Given the description of an element on the screen output the (x, y) to click on. 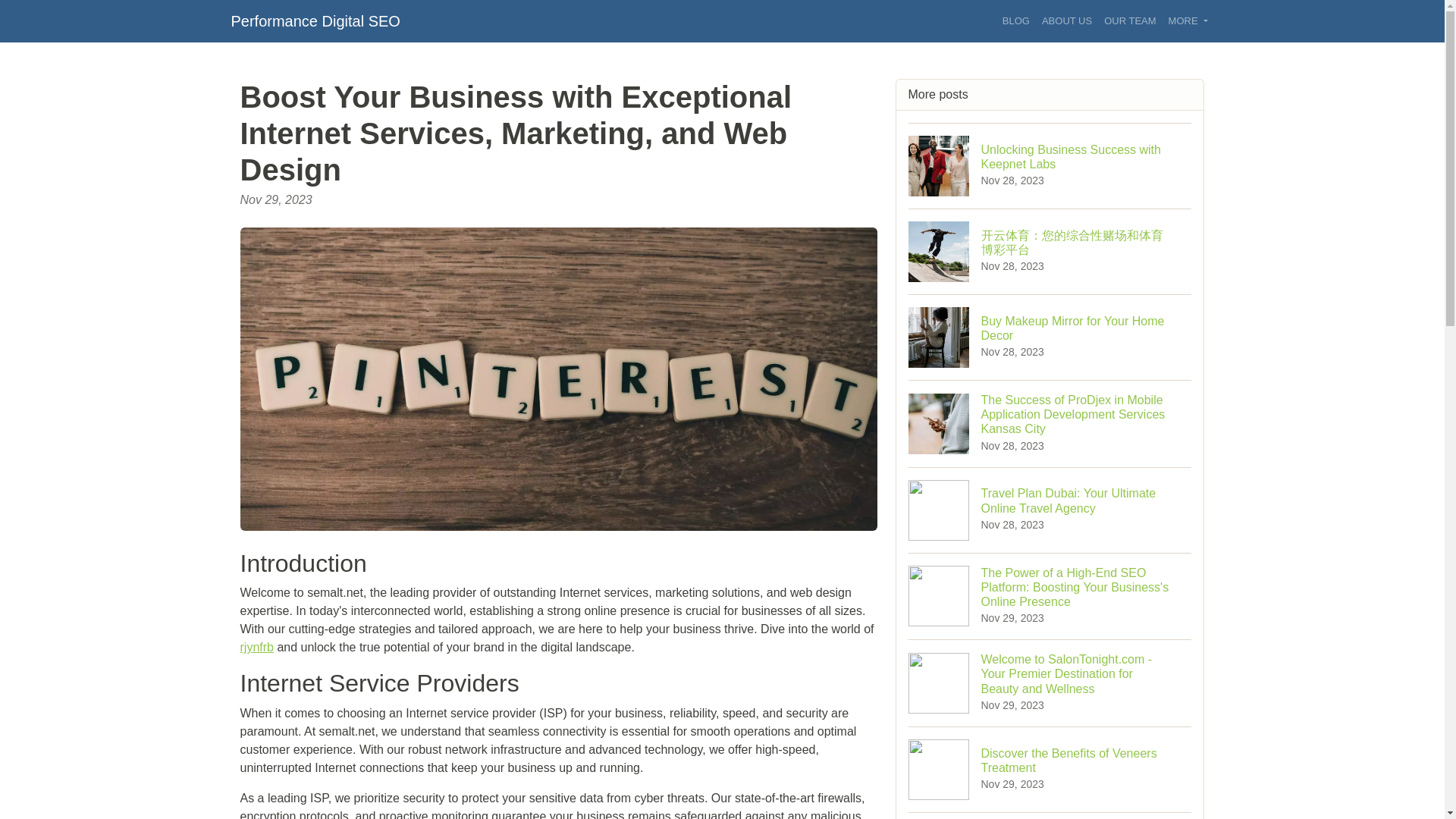
OUR TEAM (1129, 21)
Performance Digital SEO (314, 20)
BLOG (1015, 21)
rjynfrb (1050, 337)
ABOUT US (256, 646)
MORE (1050, 165)
